Given the description of an element on the screen output the (x, y) to click on. 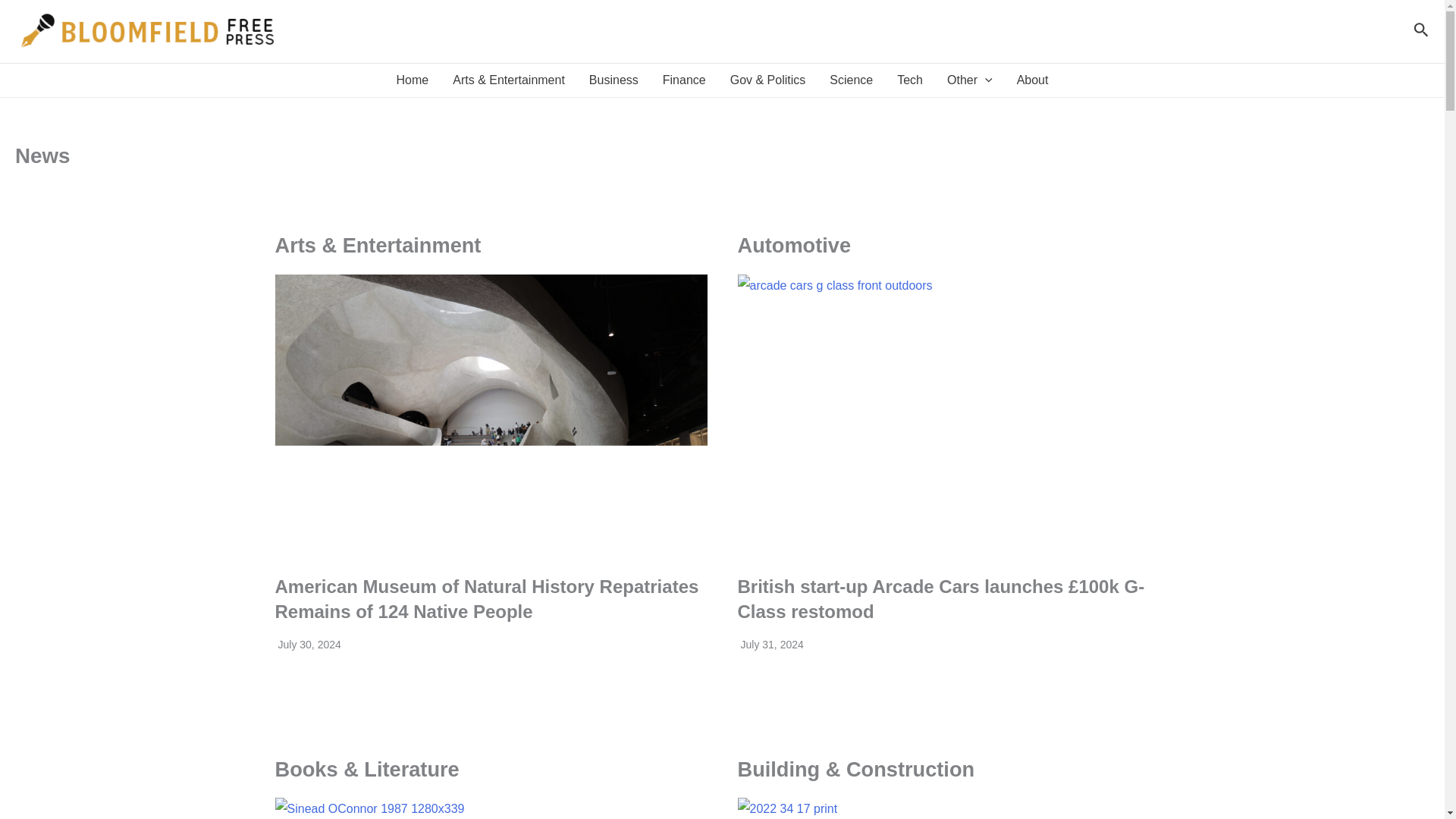
Business (613, 80)
Other (969, 80)
Finance (683, 80)
About (1032, 80)
Home (412, 80)
Tech (909, 80)
Science (850, 80)
